Given the description of an element on the screen output the (x, y) to click on. 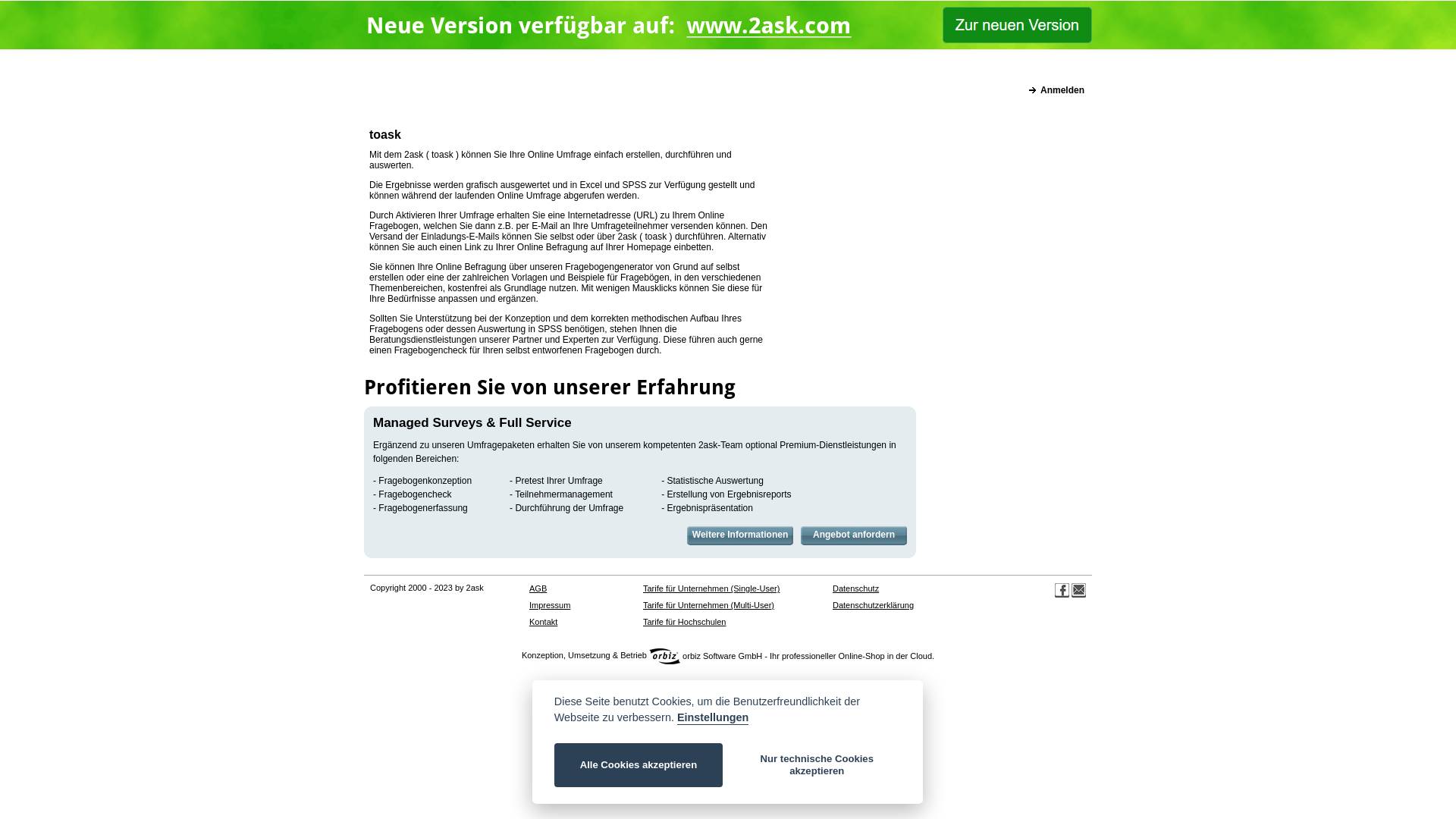
Einstellungen Element type: text (712, 717)
Kontakt Element type: text (543, 621)
Datenschutz Element type: text (855, 588)
Anmelden Element type: text (1056, 89)
Alle Cookies akzeptieren Element type: text (638, 765)
Angebot anfordern Element type: text (853, 535)
Impressum Element type: text (549, 604)
Weitere Informationen Element type: text (740, 535)
AGB Element type: text (537, 588)
Nur technische Cookies akzeptieren Element type: text (817, 765)
